Given the description of an element on the screen output the (x, y) to click on. 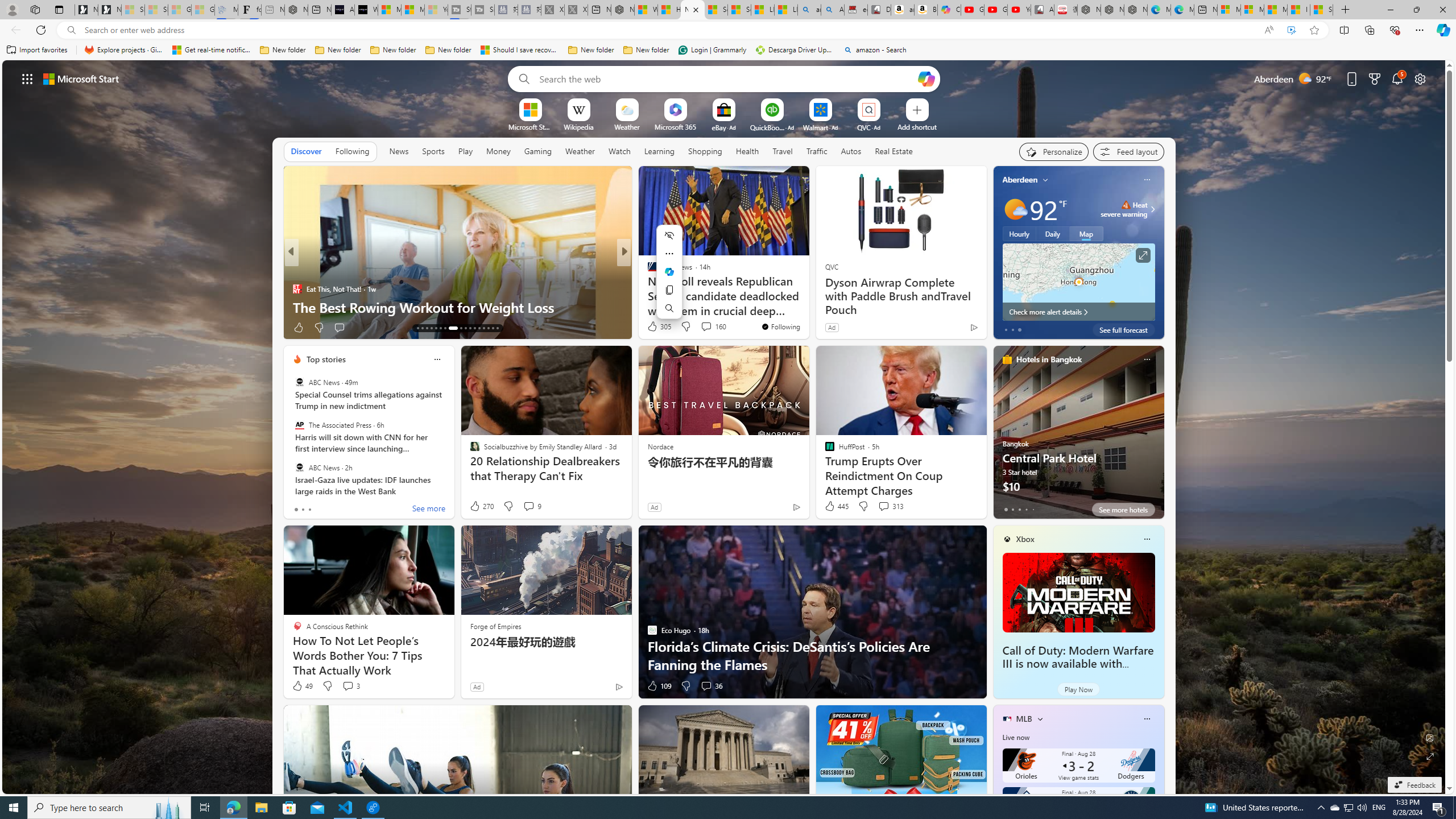
Mini menu on text selection (668, 271)
Dyson Airwrap Complete with Paddle Brush andTravel Pouch (900, 296)
View comments 9 Comment (528, 505)
Wikipedia (578, 126)
Click to see more information (1142, 255)
Check more alert details (1077, 311)
AutomationID: tab-16 (431, 328)
Should I save recovered Word documents? - Microsoft Support (519, 49)
Shopping (705, 151)
Tab actions menu (58, 9)
98 Like (652, 327)
Learning (659, 151)
AI Voice Changer for PC and Mac - Voice.ai (342, 9)
